Given the description of an element on the screen output the (x, y) to click on. 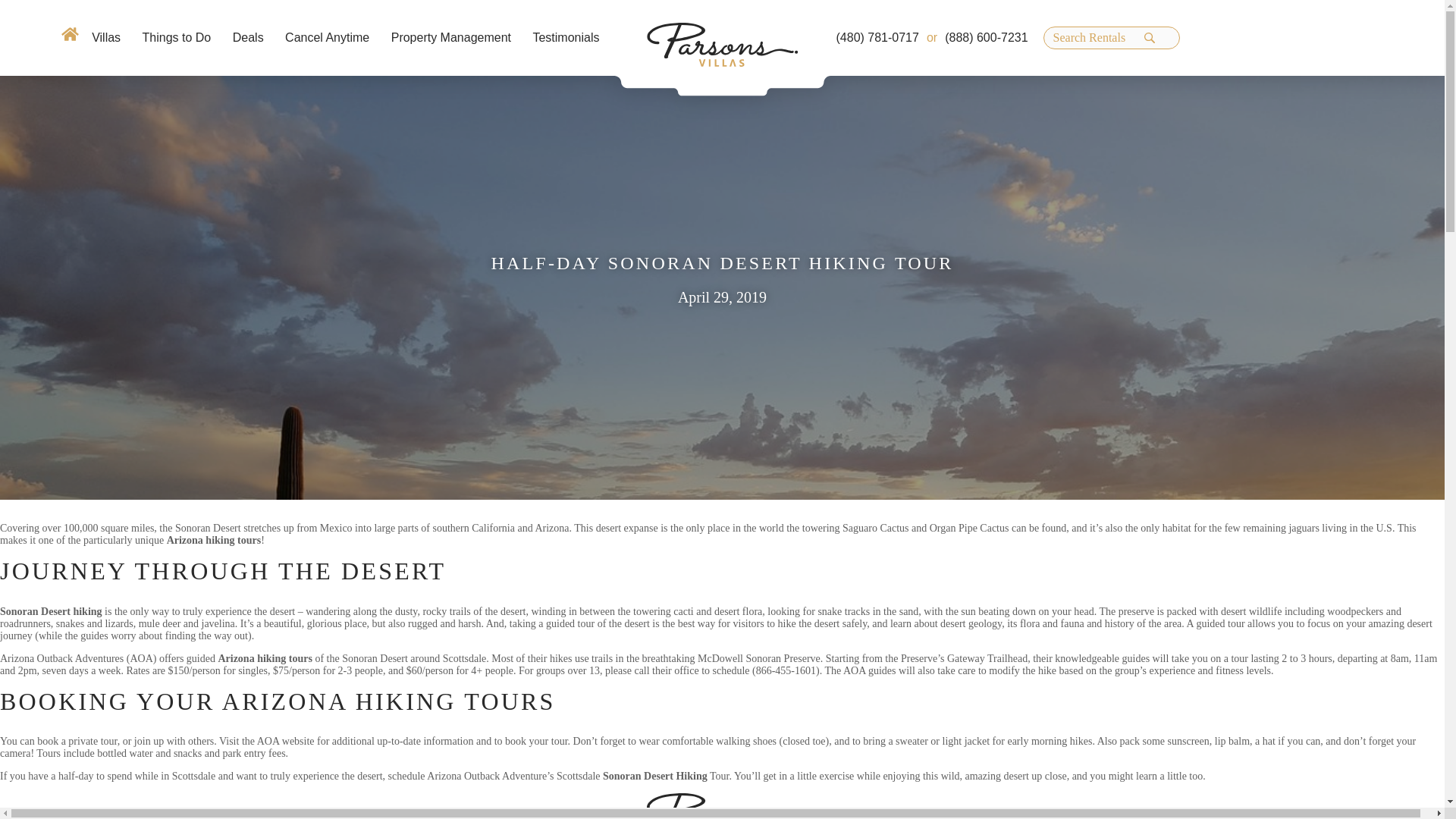
Parsons Villas Scottsdale (721, 44)
Villas (105, 37)
